Given the description of an element on the screen output the (x, y) to click on. 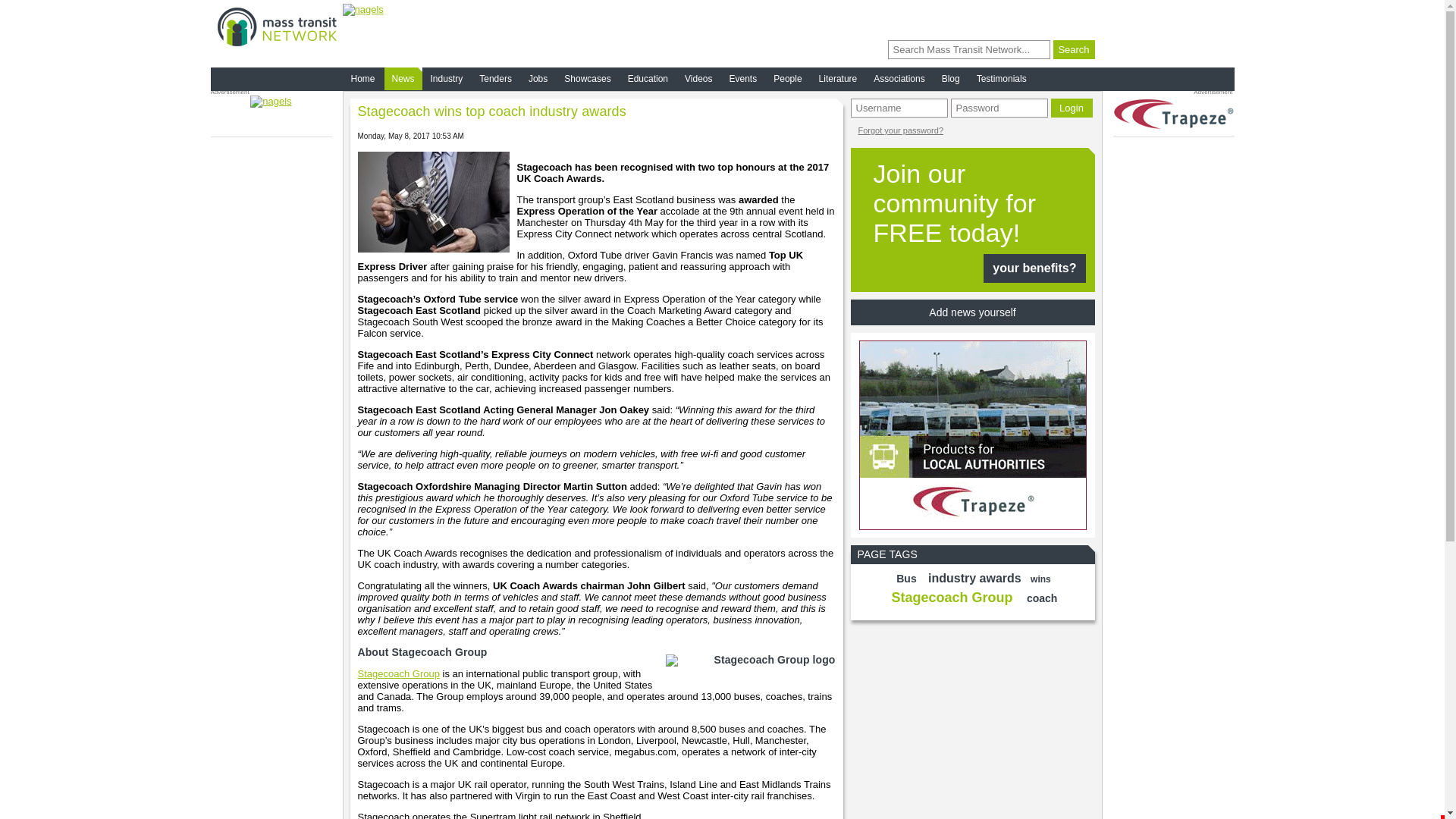
coach (1042, 598)
Tenders (495, 78)
Mass Transit Network (276, 25)
Login (1072, 107)
Add news yourself (972, 312)
Industry (446, 78)
Search (1073, 49)
Testimonials (1001, 78)
News (402, 78)
Man in suit holding trophy (433, 201)
Bus (906, 578)
Forgot your password? (901, 130)
Stagecoach Group (951, 597)
Literature (837, 78)
wins (1040, 579)
